Given the description of an element on the screen output the (x, y) to click on. 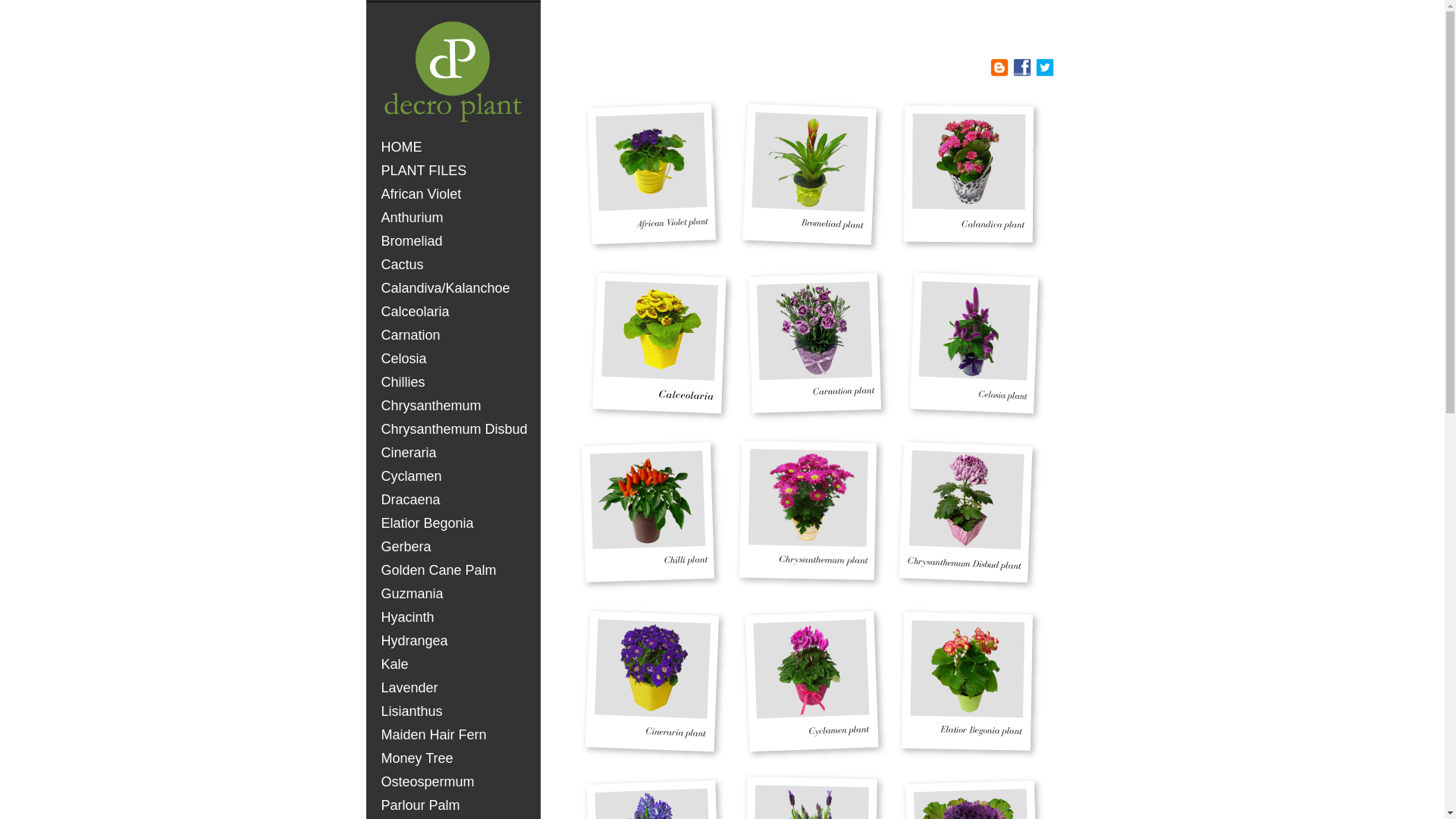
Calandiva/Kalanchoe Element type: text (455, 288)
Hydrangea Element type: text (455, 640)
Carnation Element type: text (455, 335)
Chillies Element type: text (455, 382)
Cineraria Element type: text (455, 452)
Anthurium Element type: text (455, 217)
Lisianthus Element type: text (455, 711)
Cyclamen Element type: text (455, 476)
PLANT FILES Element type: text (455, 170)
Guzmania Element type: text (455, 593)
Celosia Element type: text (455, 358)
Golden Cane Palm Element type: text (455, 570)
Parlour Palm Element type: text (455, 805)
Cactus Element type: text (455, 264)
HOME Element type: text (455, 147)
Chrysanthemum Element type: text (455, 405)
Hyacinth Element type: text (455, 617)
Osteospermum Element type: text (455, 781)
Gerbera Element type: text (455, 546)
Kale Element type: text (455, 664)
Money Tree Element type: text (455, 758)
Calceolaria Element type: text (455, 311)
Chrysanthemum Disbud Element type: text (455, 429)
Dracaena Element type: text (455, 499)
African Violet Element type: text (455, 194)
Maiden Hair Fern Element type: text (455, 734)
Elatior Begonia Element type: text (455, 523)
Lavender Element type: text (455, 687)
Bromeliad Element type: text (455, 241)
